Given the description of an element on the screen output the (x, y) to click on. 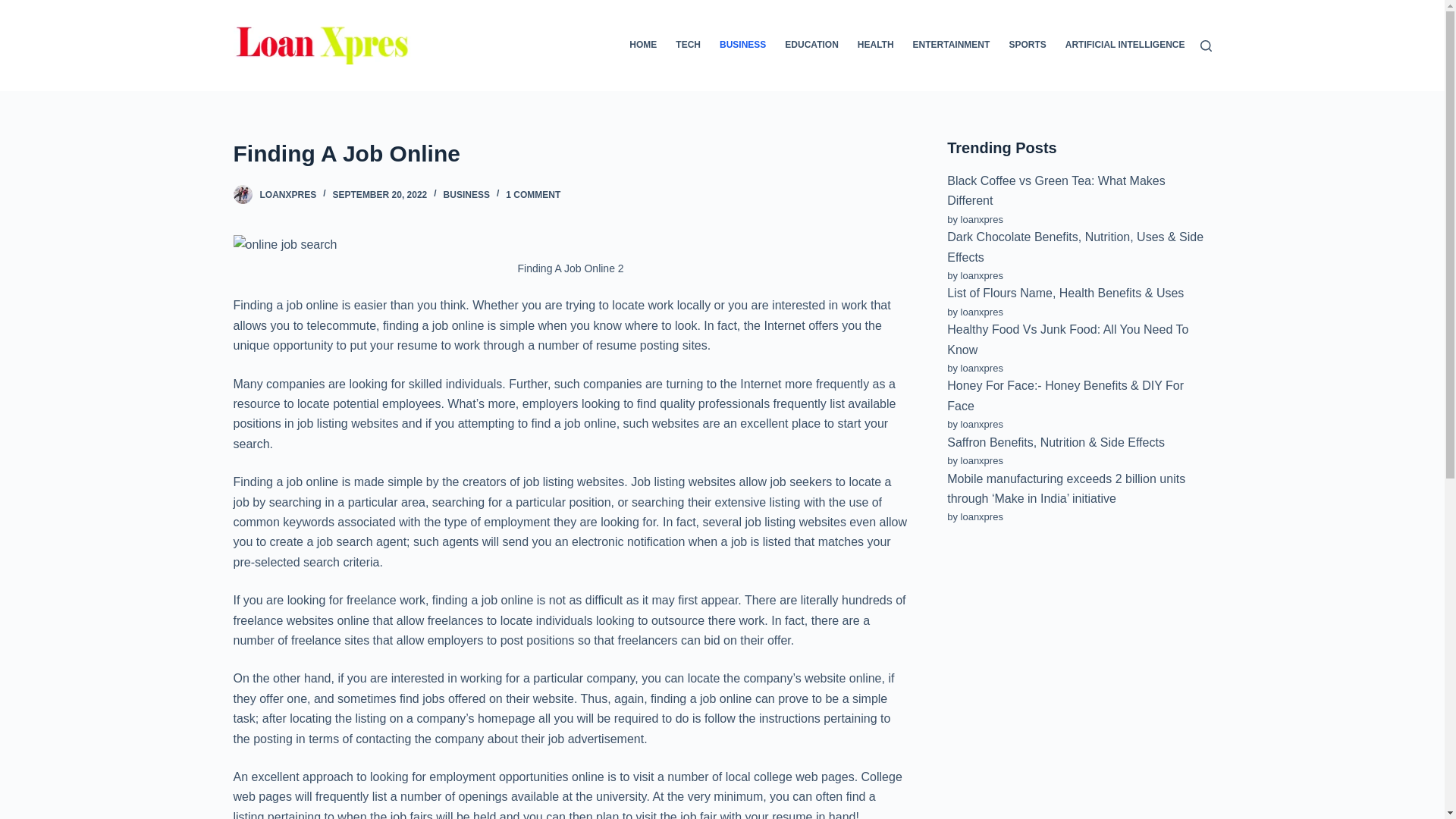
Healthy Food Vs Junk Food: All You Need To Know (1067, 338)
Finding A Job Online 1 (284, 244)
ARTIFICIAL INTELLIGENCE (1120, 45)
Posts by loanxpres (287, 194)
LOANXPRES (287, 194)
Skip to content (15, 7)
BUSINESS (466, 194)
Finding A Job Online (570, 153)
1 COMMENT (532, 194)
ENTERTAINMENT (950, 45)
Black Coffee vs Green Tea: What Makes Different (1056, 190)
